Given the description of an element on the screen output the (x, y) to click on. 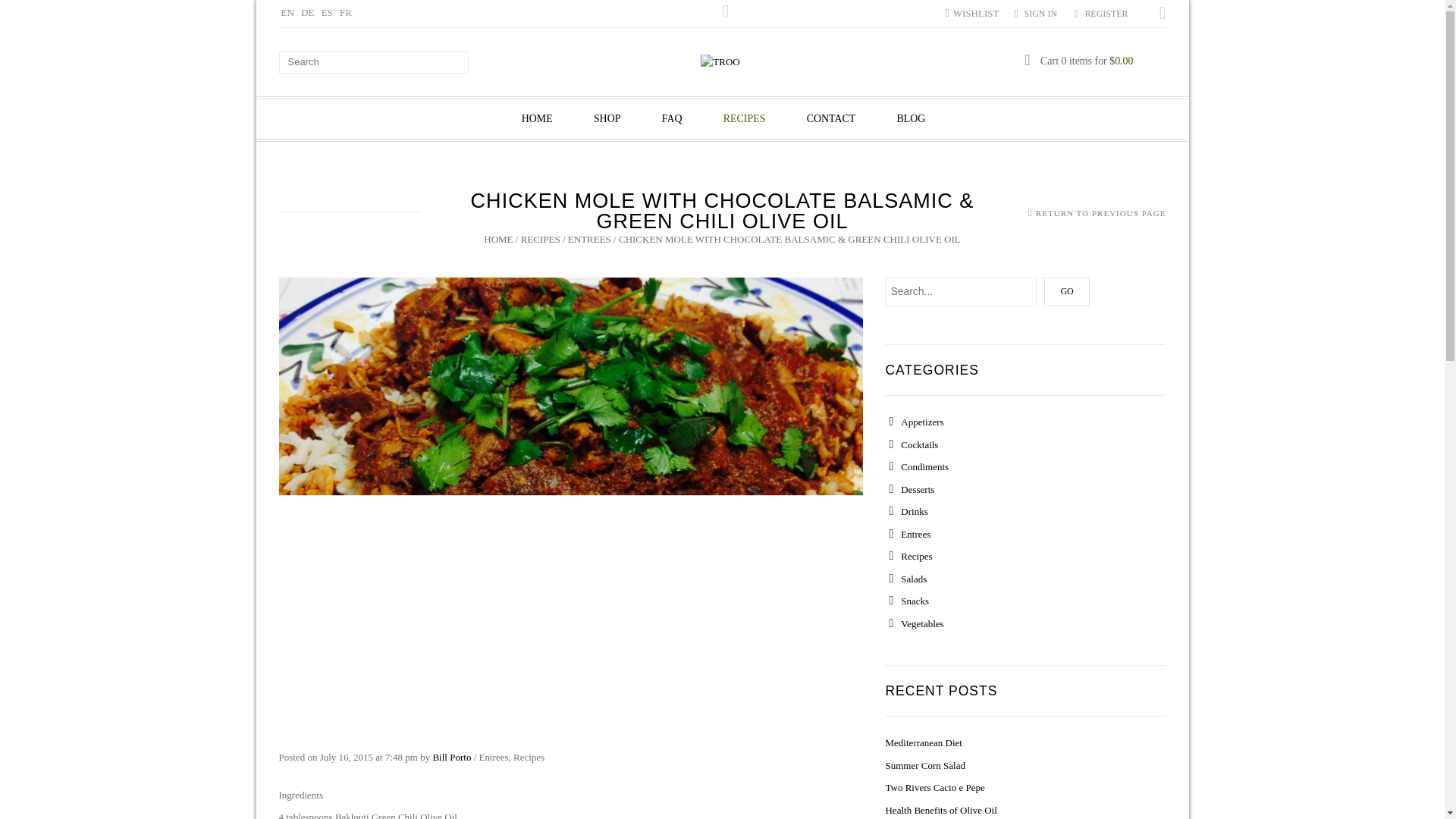
FR (345, 12)
REGISTER (1105, 13)
Posts by Bill Porto (451, 756)
Go (1066, 291)
SIGN IN (1041, 13)
EN (287, 12)
ES (327, 12)
WISHLIST (971, 11)
DE (307, 12)
HOME (537, 118)
